Given the description of an element on the screen output the (x, y) to click on. 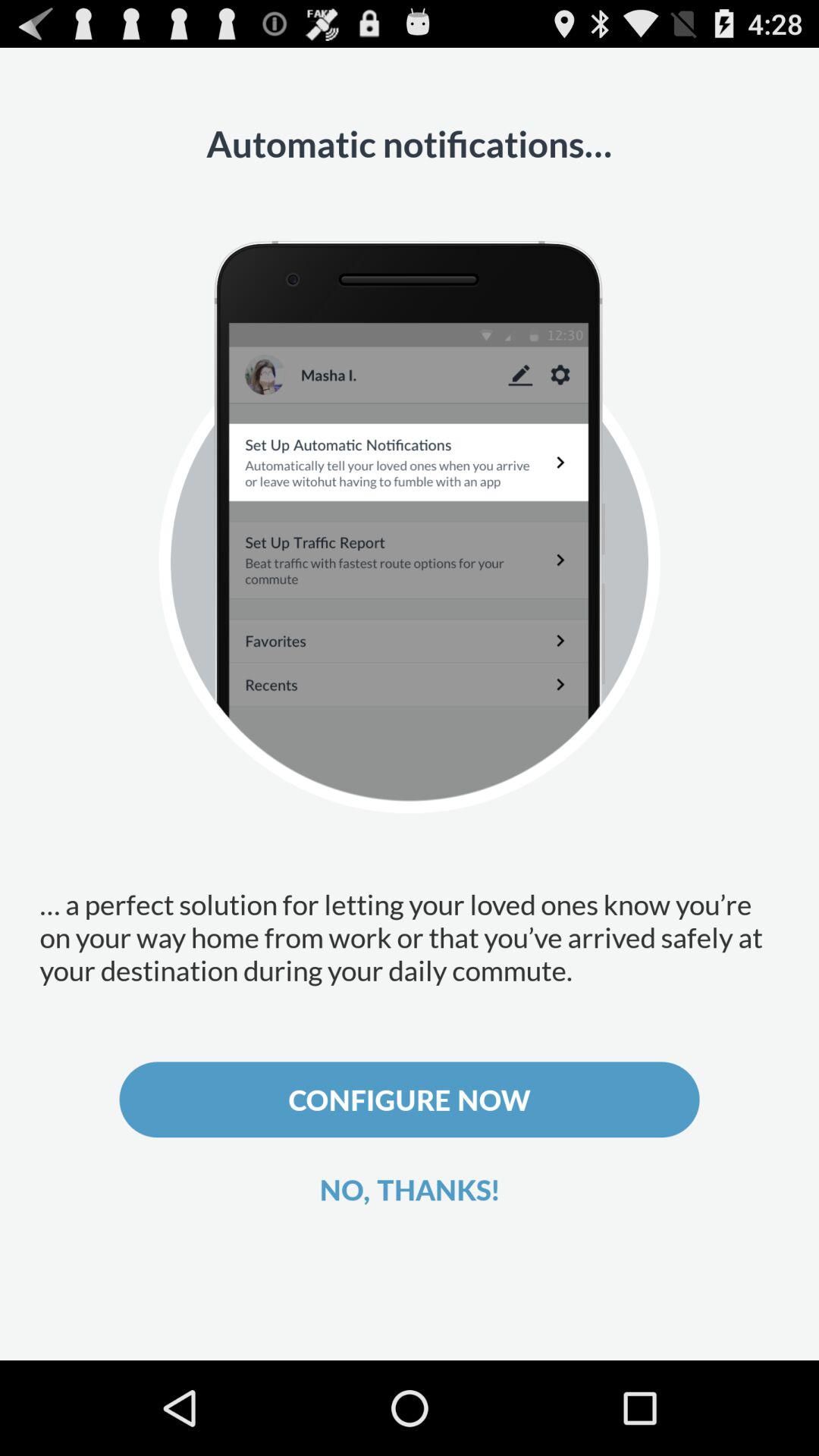
choose the configure now icon (409, 1099)
